Given the description of an element on the screen output the (x, y) to click on. 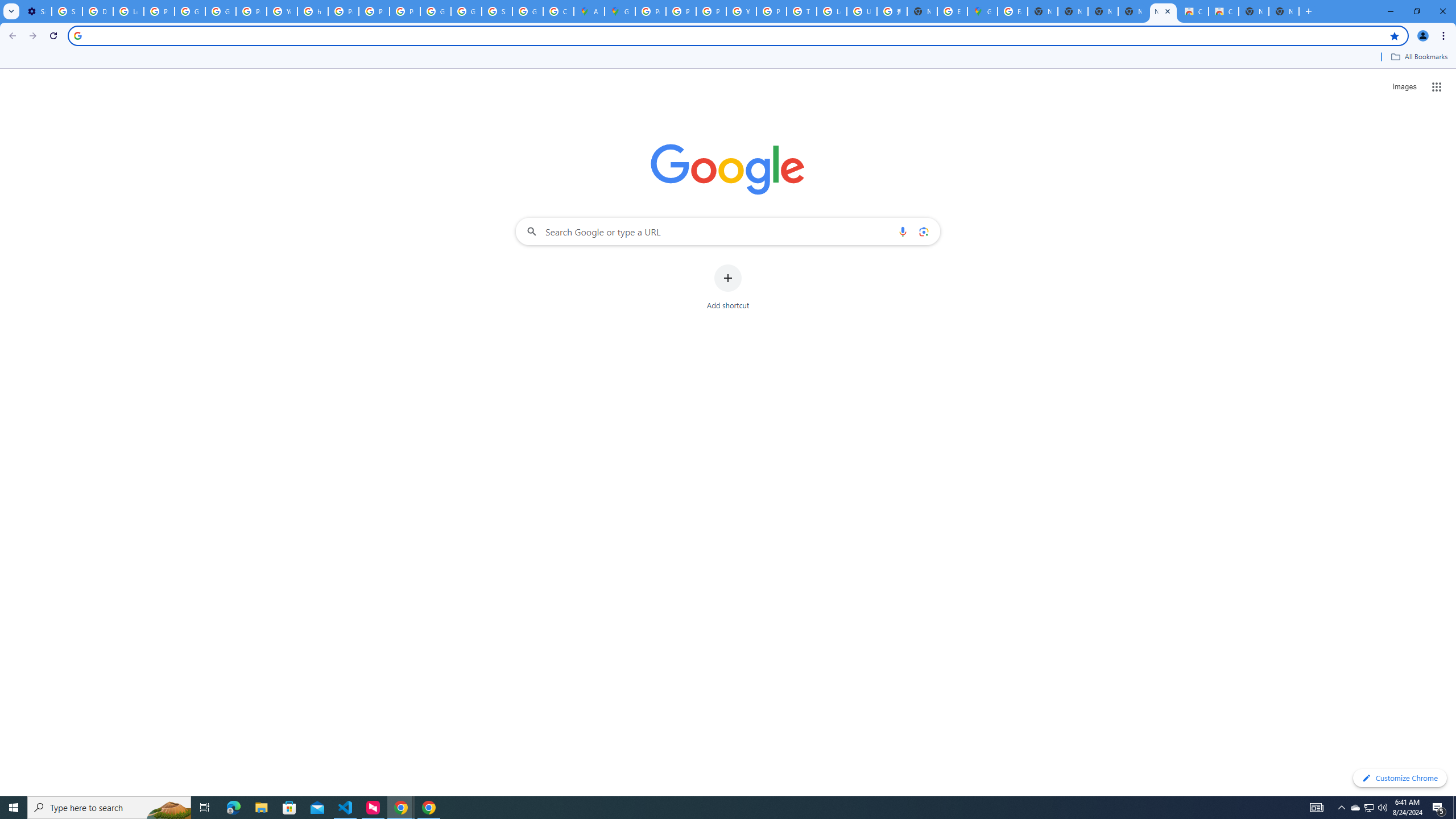
Classic Blue - Chrome Web Store (1223, 11)
Sign in - Google Accounts (496, 11)
Policy Accountability and Transparency - Transparency Center (650, 11)
Classic Blue - Chrome Web Store (1193, 11)
YouTube (282, 11)
Google Maps (982, 11)
